Given the description of an element on the screen output the (x, y) to click on. 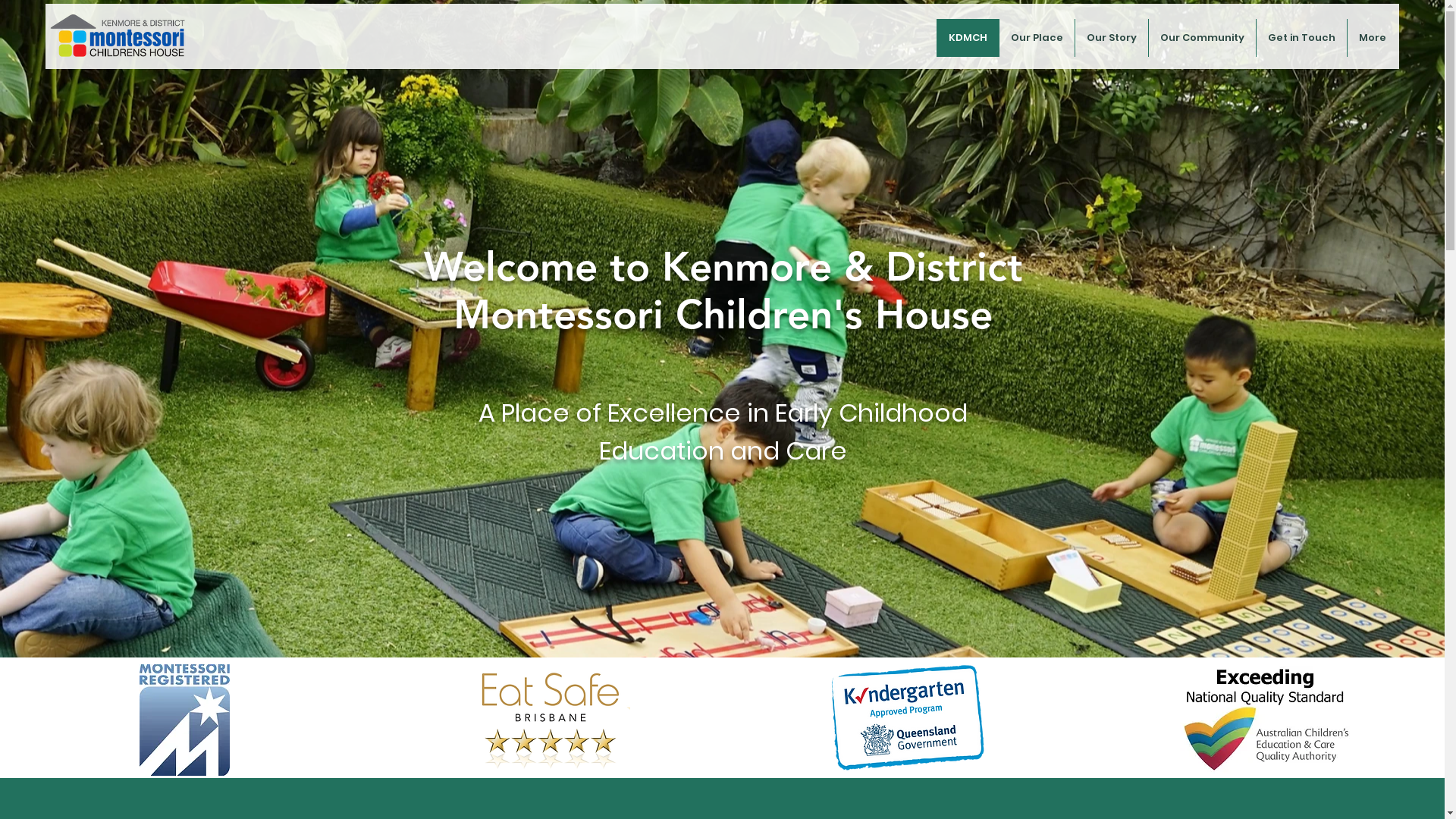
Get in Touch Element type: text (1300, 37)
KDMCH Element type: text (967, 37)
Our Community Element type: text (1201, 37)
Our Place Element type: text (1036, 37)
Our Story Element type: text (1111, 37)
